Given the description of an element on the screen output the (x, y) to click on. 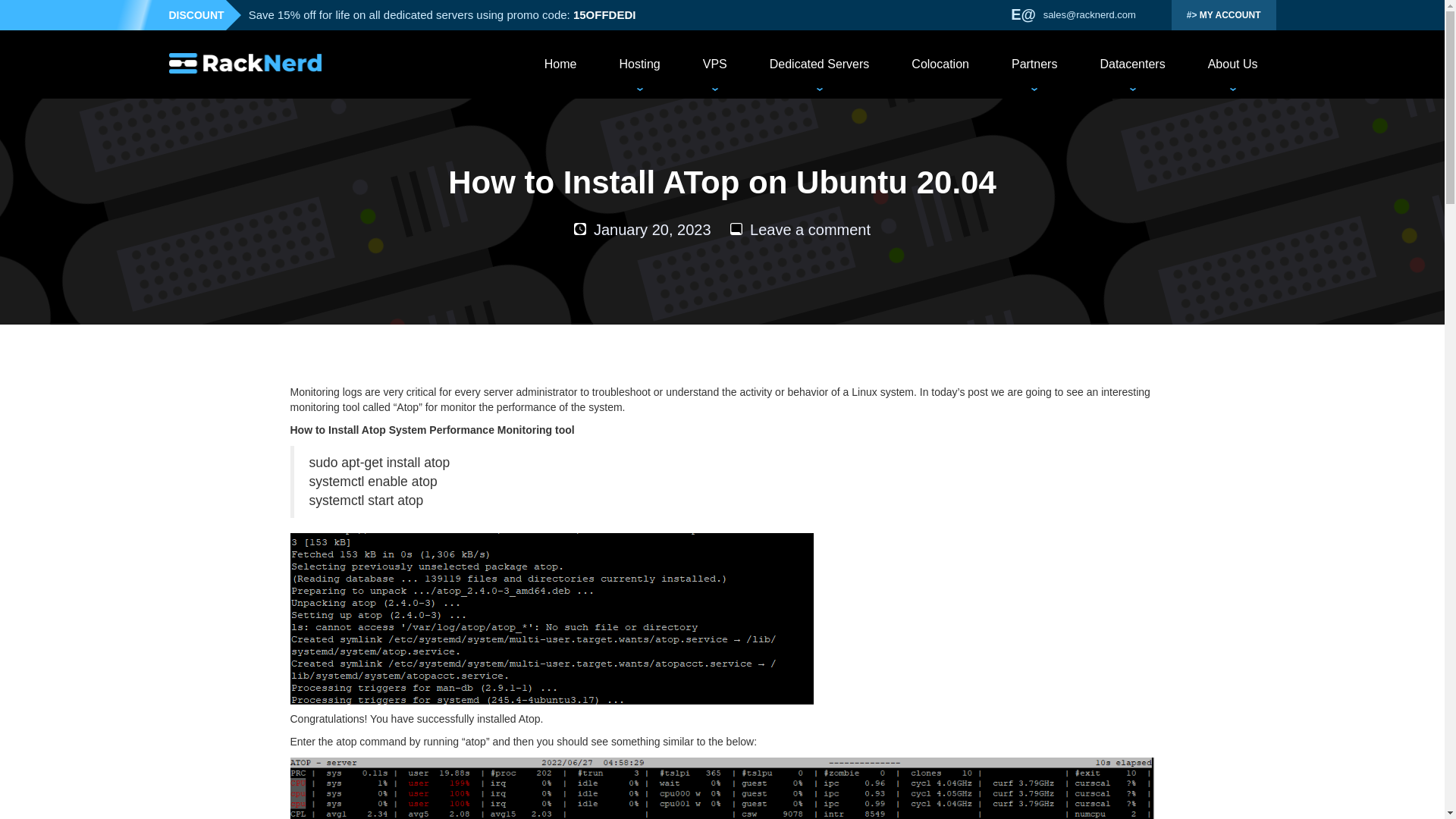
Home (560, 63)
MY ACCOUNT (1224, 15)
About Us (1232, 63)
VPS (714, 63)
Dedicated Servers (819, 63)
Datacenters (1131, 63)
Hosting (638, 63)
Hosting (638, 63)
Colocation (940, 63)
Dedicated Servers (819, 63)
